Given the description of an element on the screen output the (x, y) to click on. 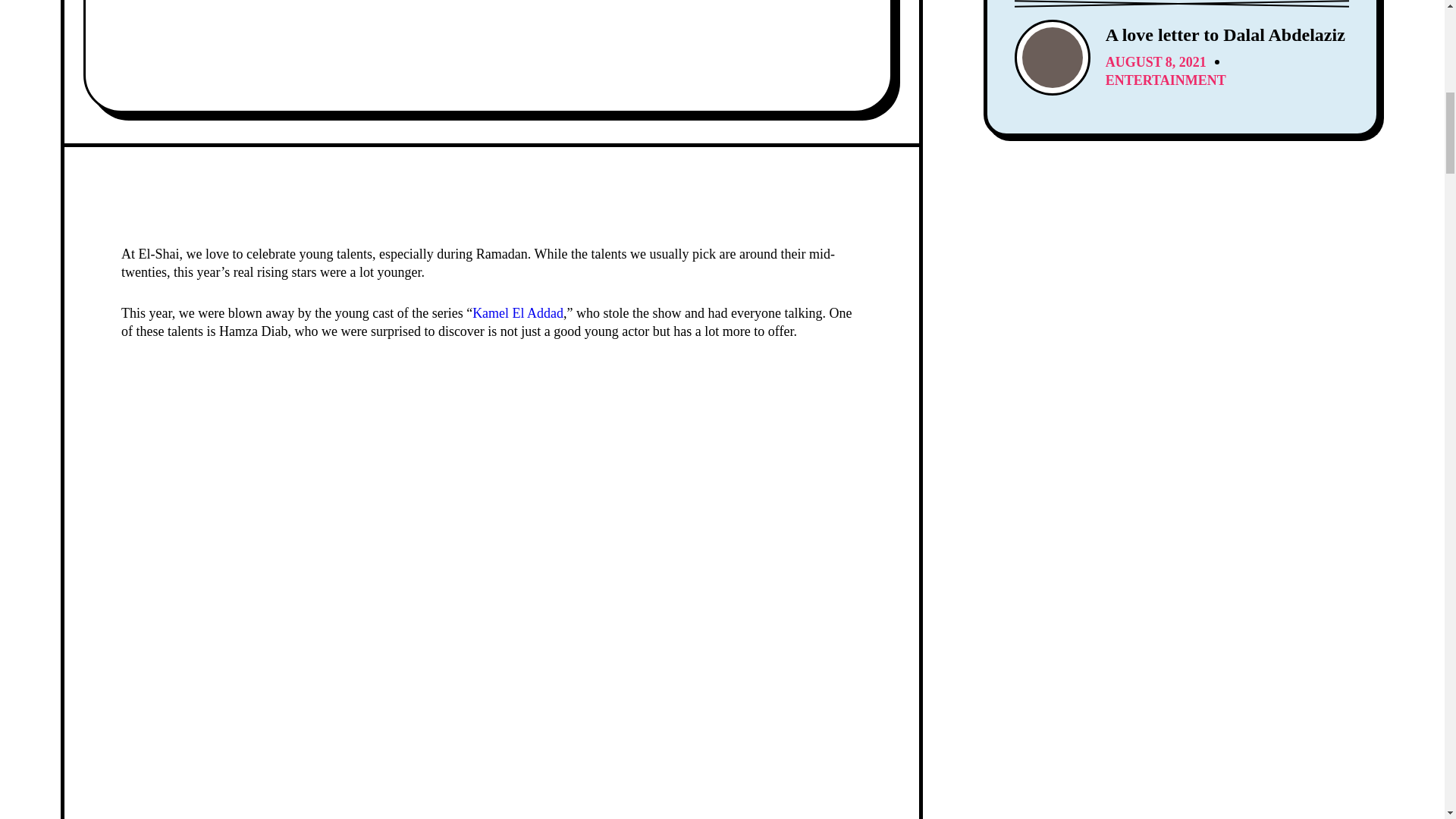
A love letter to Dalal Abdelaziz (1181, 57)
